Given the description of an element on the screen output the (x, y) to click on. 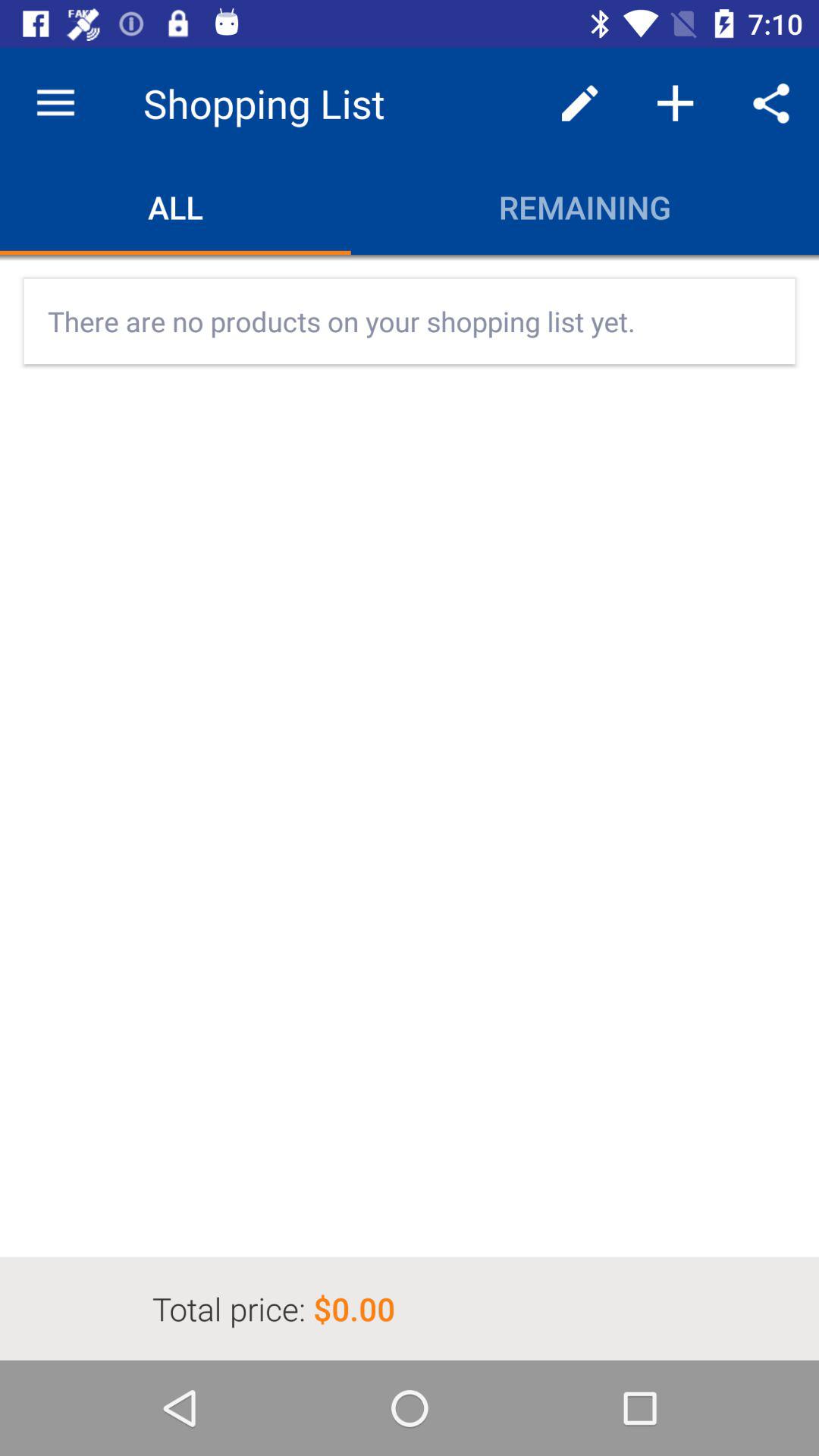
click icon to the left of shopping list item (55, 103)
